Given the description of an element on the screen output the (x, y) to click on. 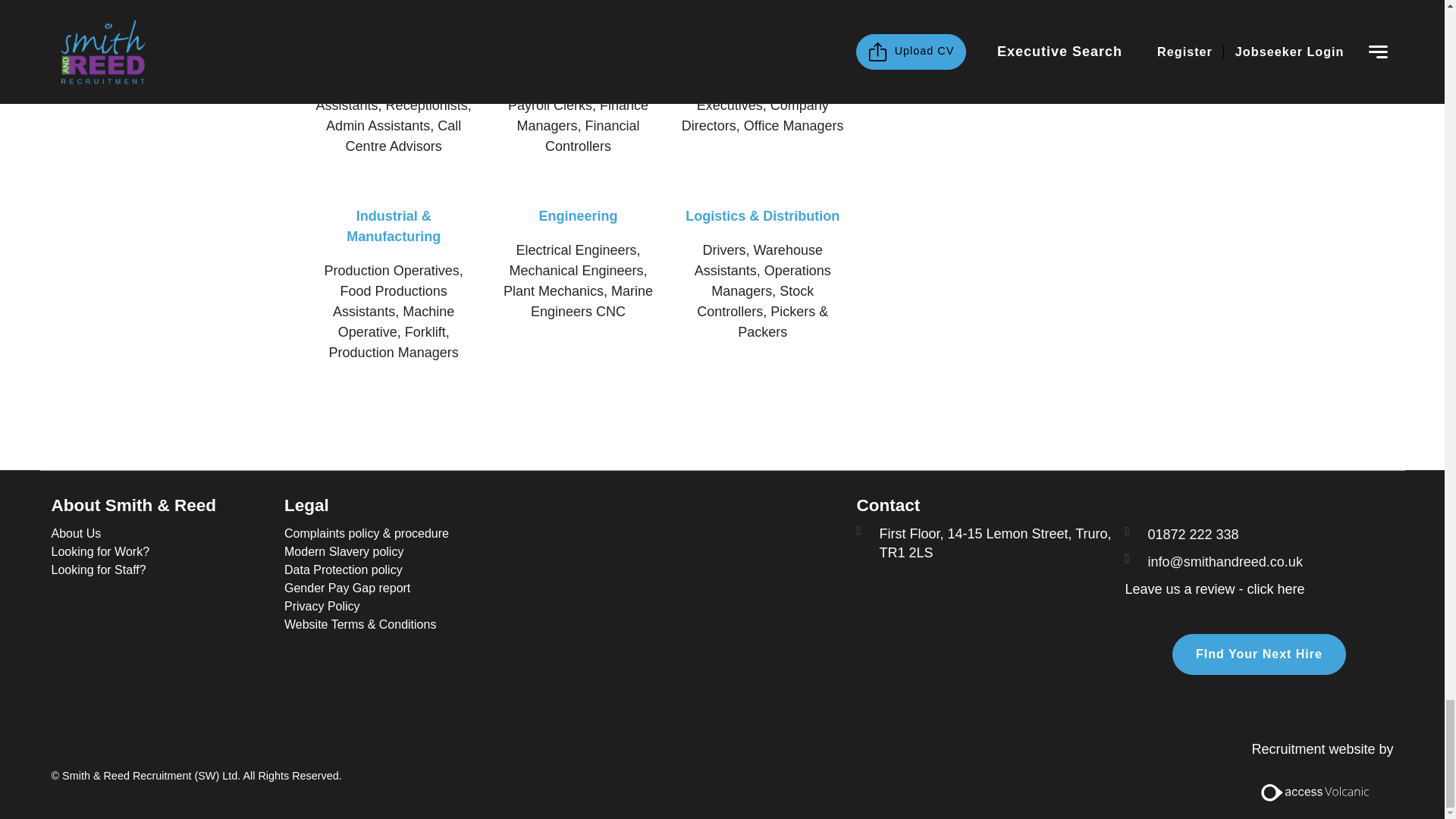
Administrative (393, 50)
Engineering (577, 215)
